Given the description of an element on the screen output the (x, y) to click on. 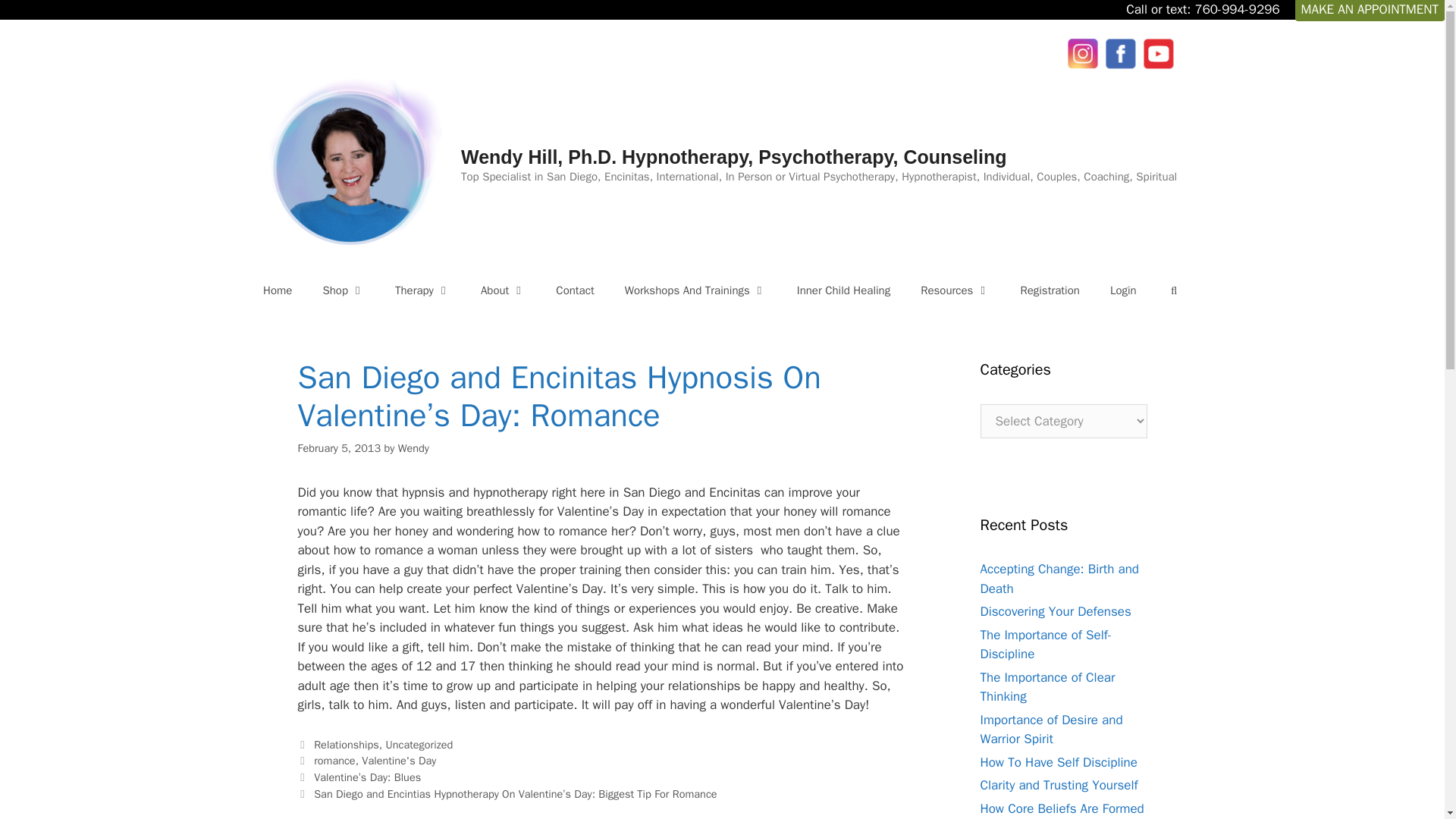
Contact (574, 289)
Workshops And Trainings (695, 289)
View all posts by Wendy (413, 448)
Shop (343, 289)
About (502, 289)
Therapy (422, 289)
760-994-9296 (1236, 9)
Home (277, 289)
Wendy Hill, Ph.D. Hypnotherapy, Psychotherapy, Counseling (734, 156)
